Given the description of an element on the screen output the (x, y) to click on. 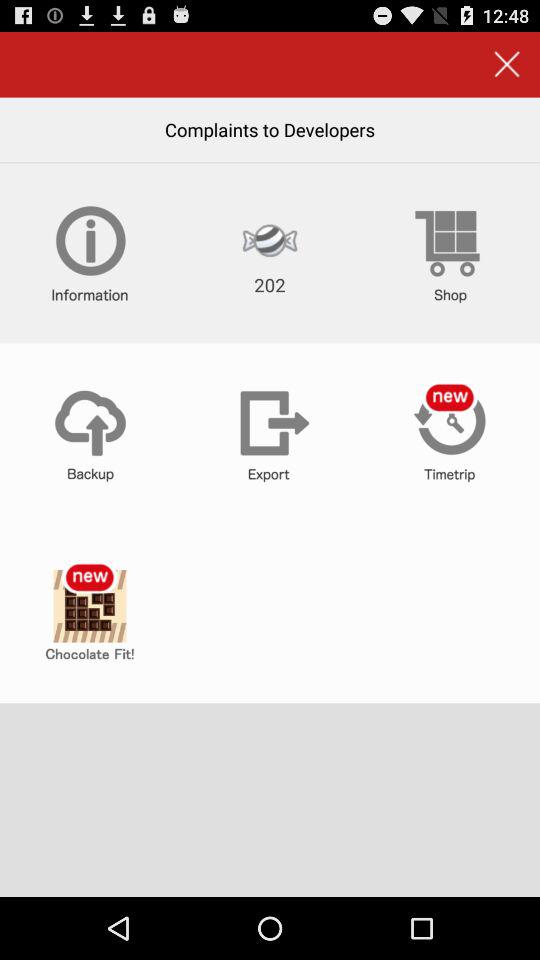
export compliant information (270, 433)
